Given the description of an element on the screen output the (x, y) to click on. 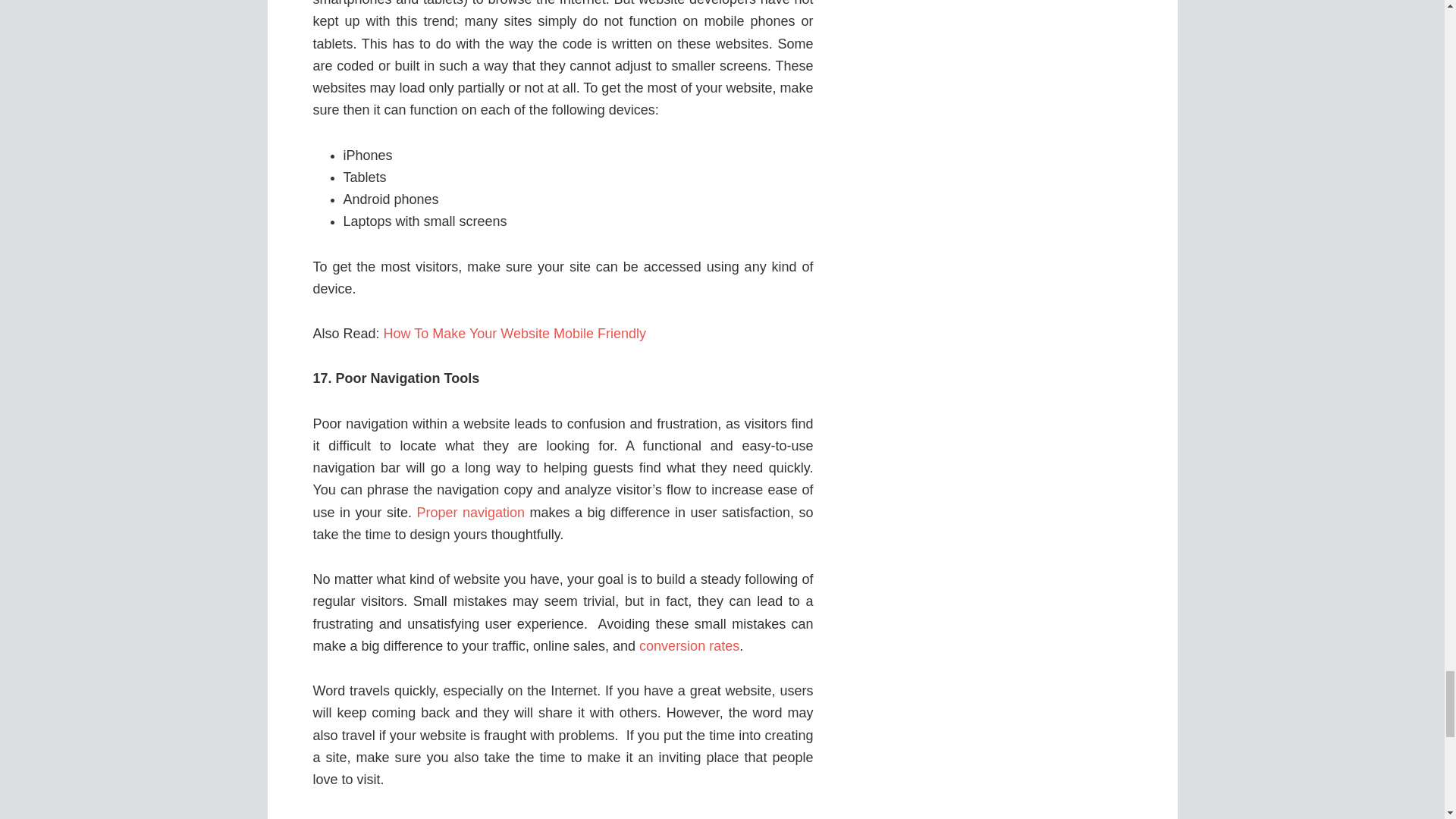
How To Make Your Website Mobile Friendly  (517, 333)
conversion rates (689, 645)
Proper navigation (470, 512)
